Given the description of an element on the screen output the (x, y) to click on. 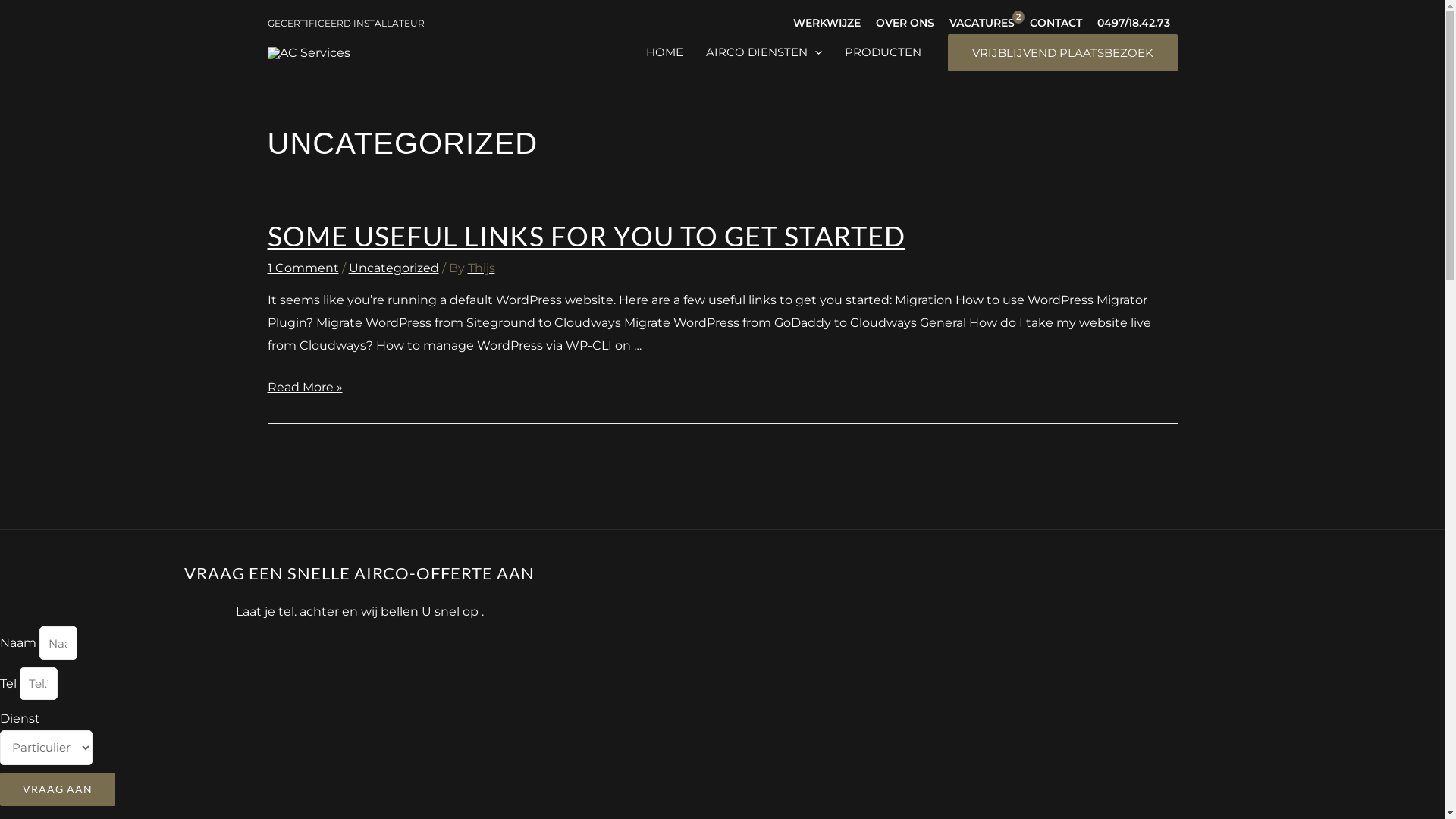
Thijs Element type: text (480, 267)
WERKWIJZE Element type: text (826, 22)
SOME USEFUL LINKS FOR YOU TO GET STARTED Element type: text (585, 235)
AIRCO DIENSTEN Element type: text (763, 52)
VACATURES Element type: text (981, 22)
OVER ONS Element type: text (904, 22)
Uncategorized Element type: text (393, 267)
1 Comment Element type: text (302, 267)
CONTACT Element type: text (1055, 22)
0497/18.42.73 Element type: text (1132, 22)
VRAAG AAN Element type: text (57, 789)
VRIJBLIJVEND PLAATSBEZOEK Element type: text (1062, 52)
